Given the description of an element on the screen output the (x, y) to click on. 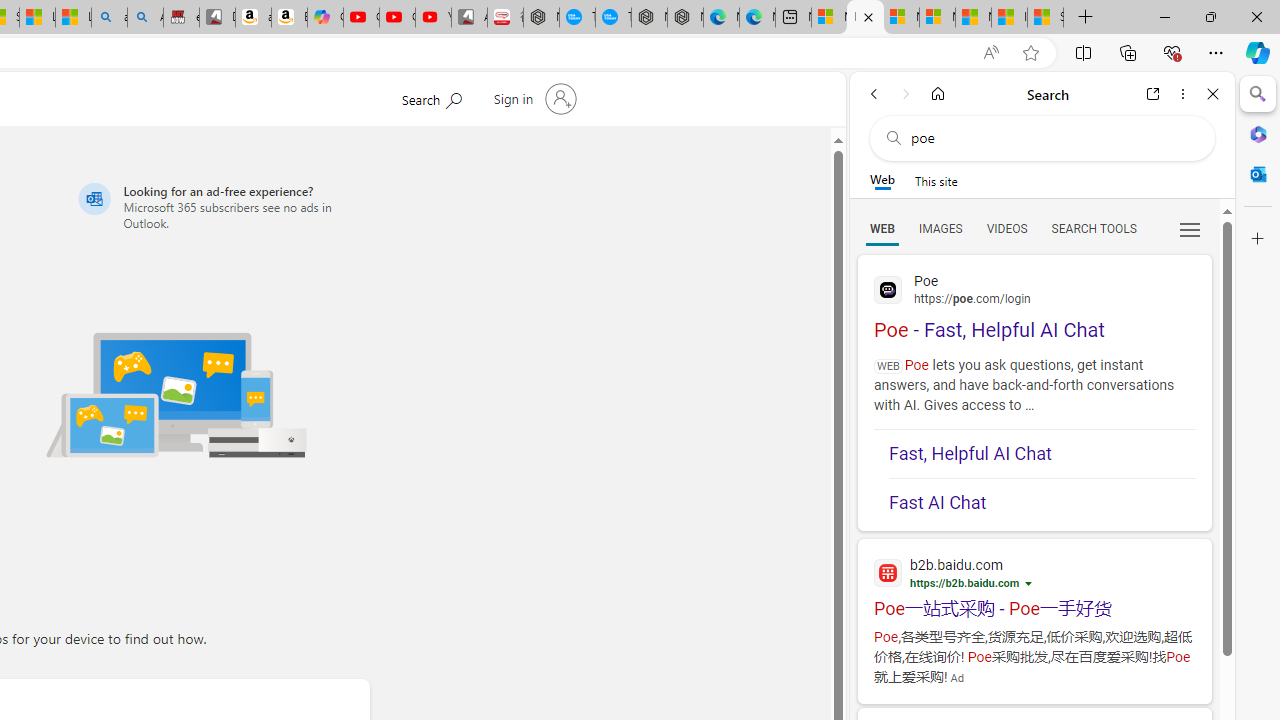
Sign in to your account (532, 98)
Amazon Echo Dot PNG - Search Images (145, 17)
Fast AI Chat (1042, 496)
Fast AI Chat (1042, 502)
Search Filter, IMAGES (939, 228)
https://b2b.baidu.com (965, 582)
Search Filter, VIDEOS (1006, 228)
Class: b_serphb (1190, 229)
Looking for an ad-free experience? (220, 206)
